Given the description of an element on the screen output the (x, y) to click on. 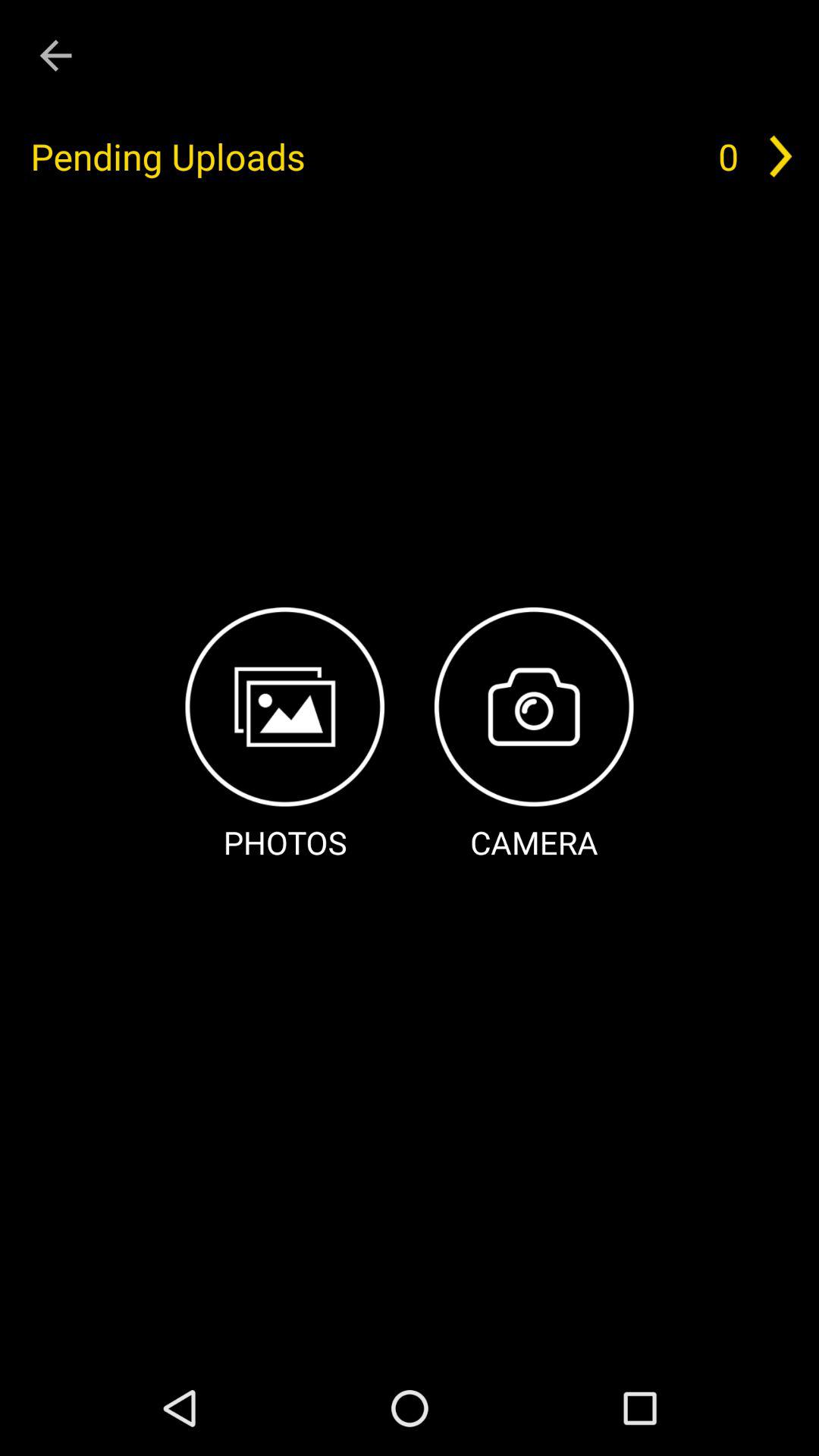
click item below pending uploads item (533, 735)
